Given the description of an element on the screen output the (x, y) to click on. 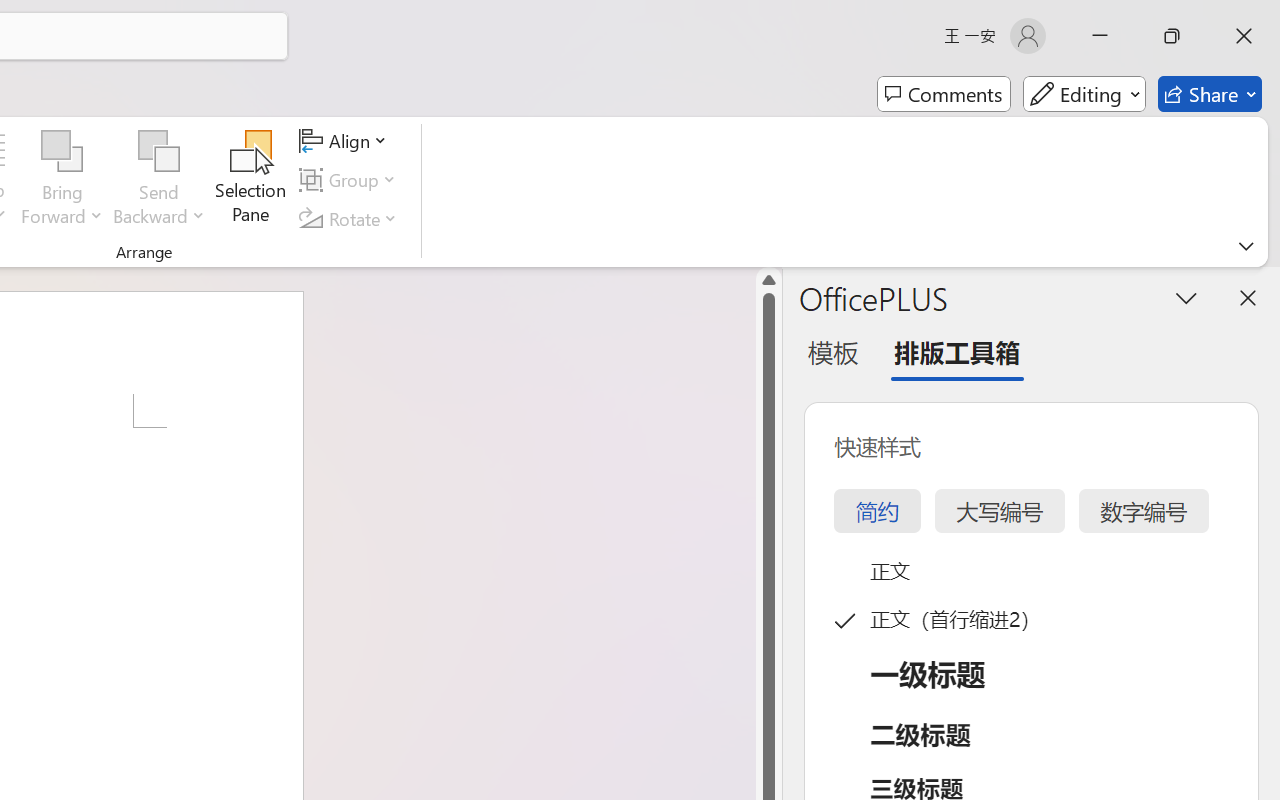
Align (346, 141)
Selection Pane... (251, 179)
Send Backward (159, 179)
Group (351, 179)
Rotate (351, 218)
Bring Forward (62, 151)
